Given the description of an element on the screen output the (x, y) to click on. 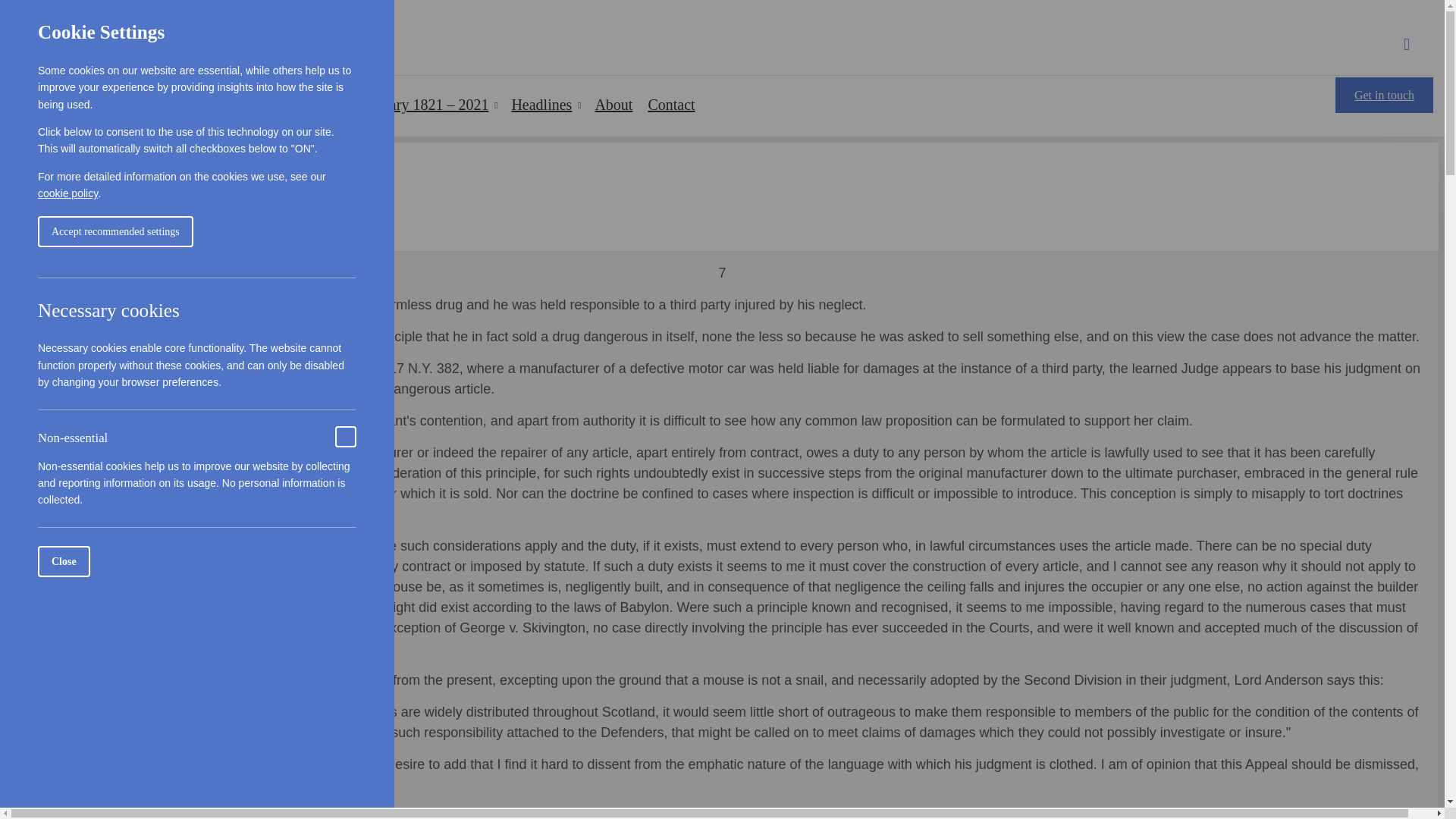
Accept recommended settings (77, 231)
Close (42, 561)
cookie policy (24, 193)
Scottish Council of Law Reporting (158, 33)
Privacy Policy (67, 193)
Skip to the content (722, 12)
Publications (197, 127)
Get in touch (1383, 94)
